Given the description of an element on the screen output the (x, y) to click on. 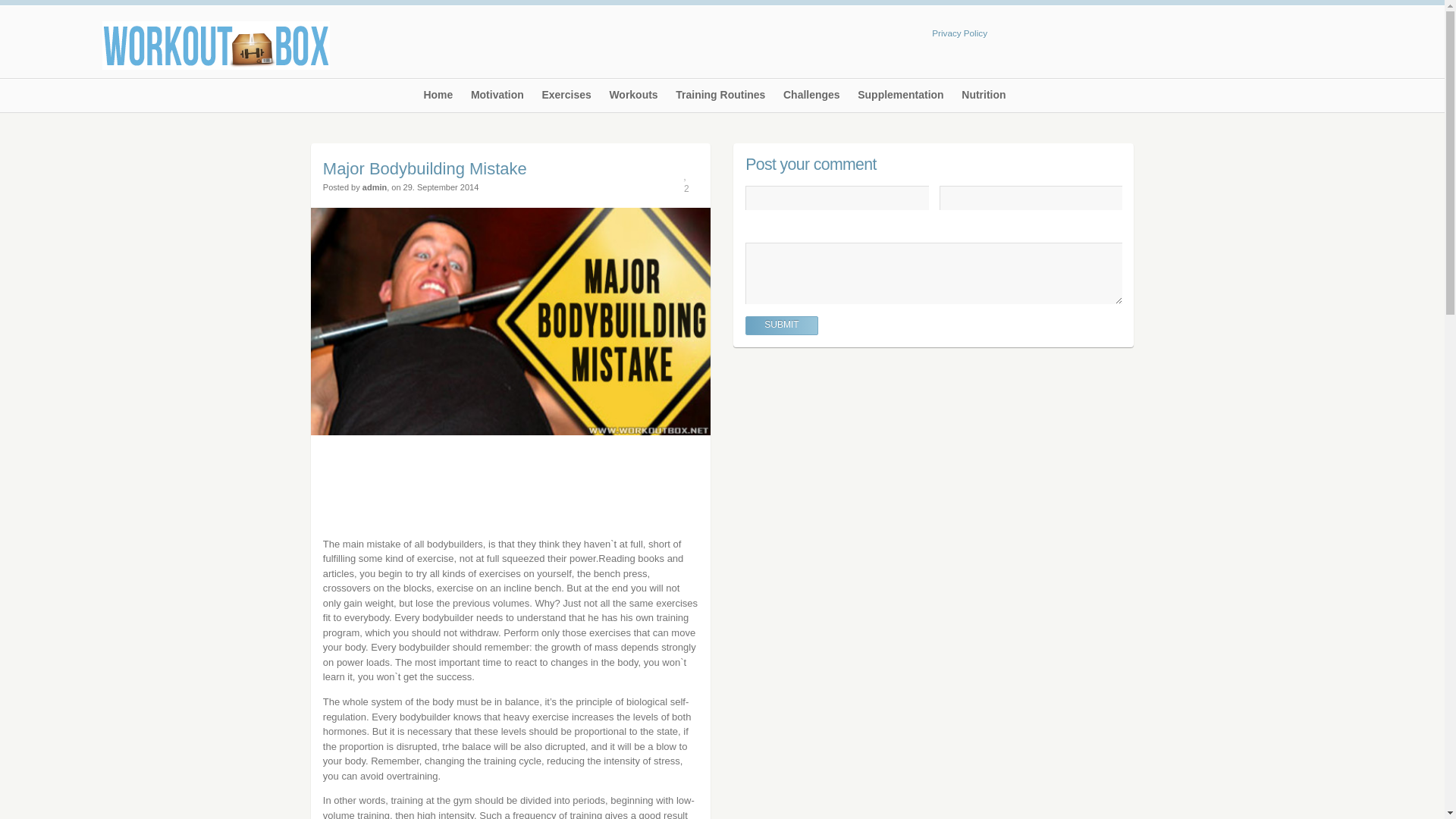
Workouts (633, 100)
Privacy Policy (959, 32)
Exercises (566, 100)
Your Comment (933, 272)
Your Name (836, 197)
Love this. (685, 179)
Your Email (1030, 197)
Training Routines (720, 100)
Home (437, 100)
Motivation (497, 100)
